Given the description of an element on the screen output the (x, y) to click on. 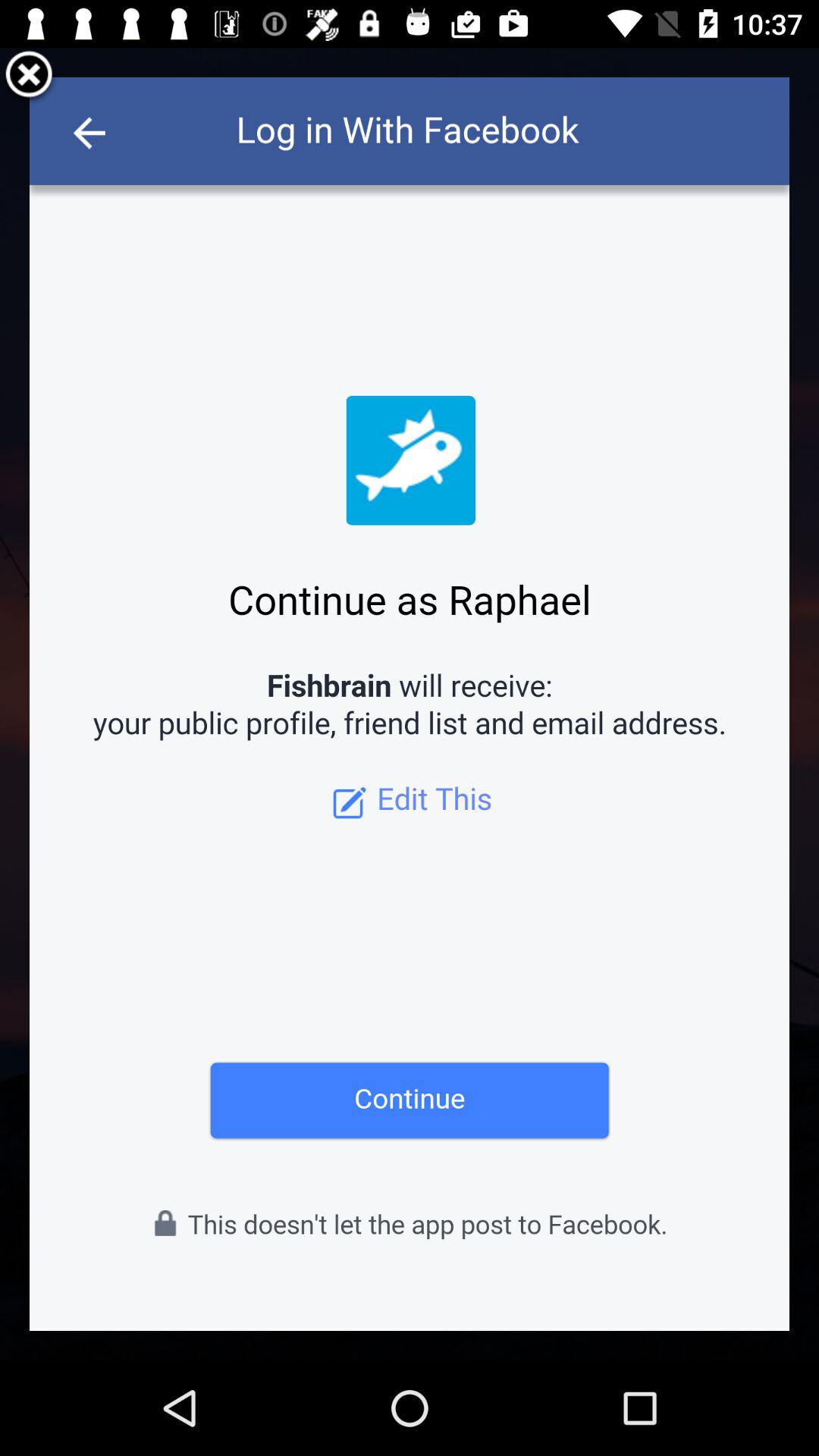
full display (409, 703)
